Given the description of an element on the screen output the (x, y) to click on. 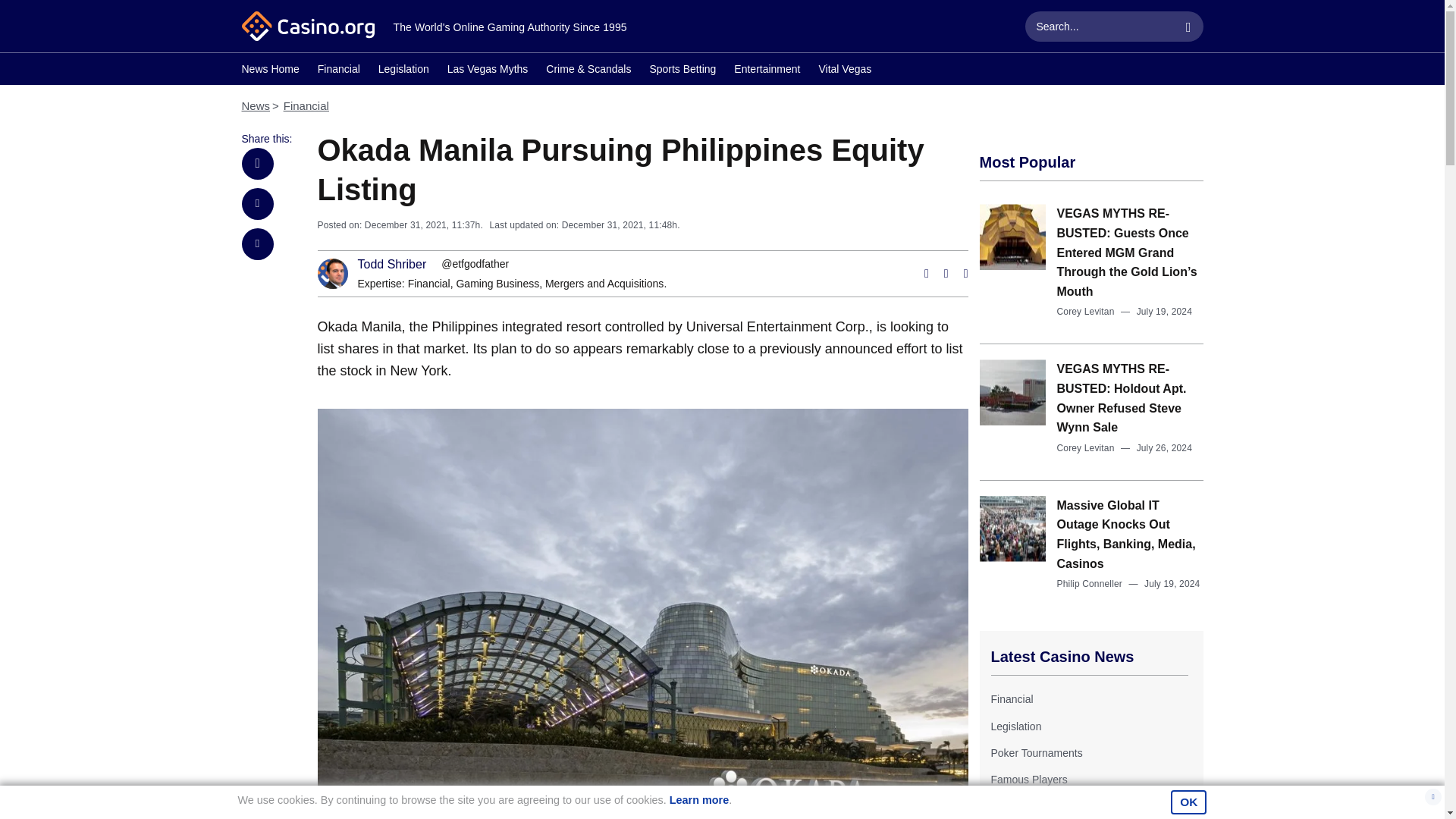
Legislation (403, 70)
Todd Shriber (392, 264)
Poker Tournaments (1035, 752)
Todd Shriber (392, 264)
Financial (1011, 698)
Corey Levitan (1086, 448)
Financial (428, 283)
Financial (306, 105)
Legislation (1015, 726)
Philip Conneller (1089, 583)
Sports Betting (682, 70)
Vital Vegas (845, 70)
News (255, 105)
